Given the description of an element on the screen output the (x, y) to click on. 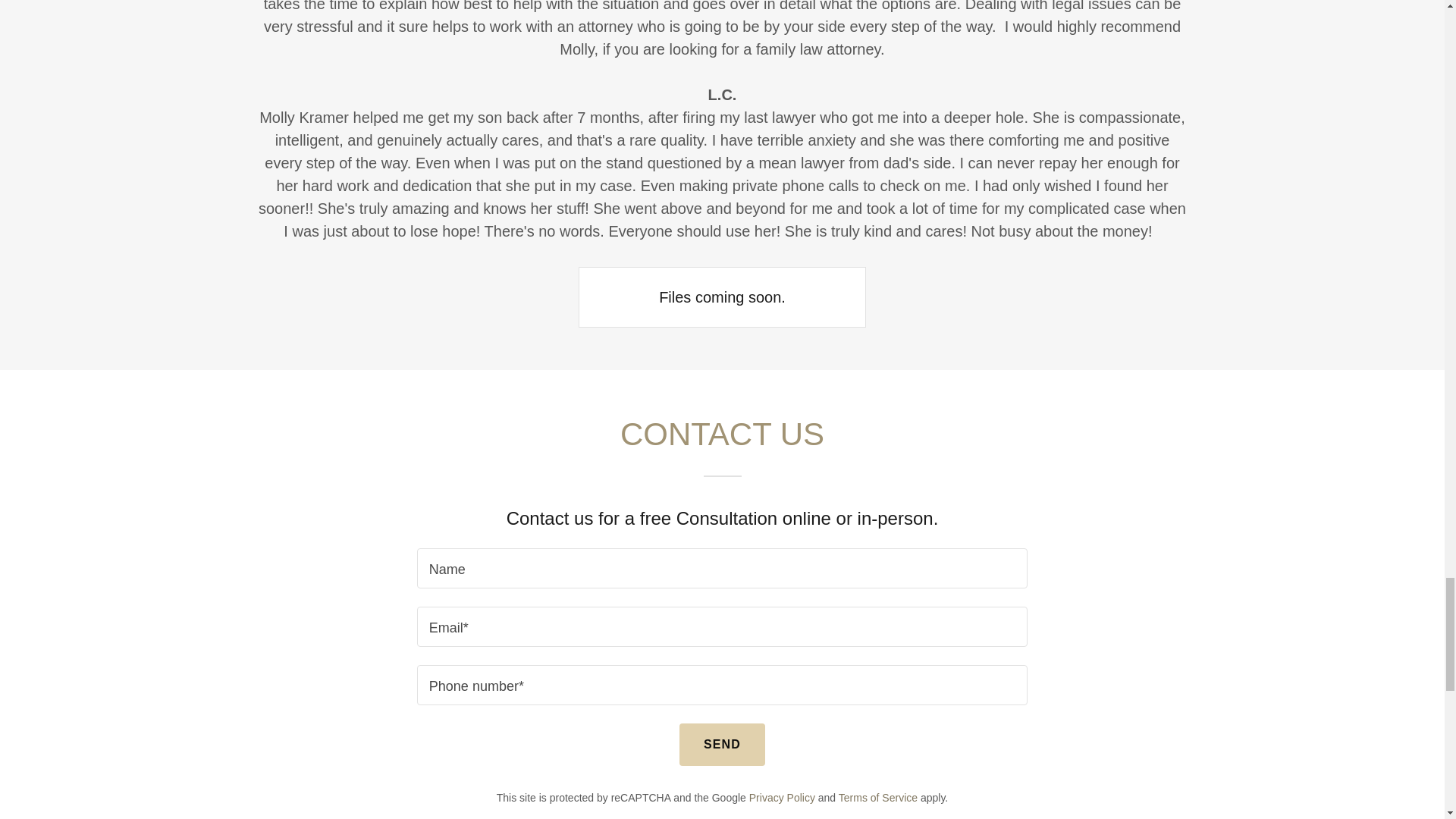
SEND (722, 744)
Privacy Policy (782, 797)
Terms of Service (877, 797)
